Given the description of an element on the screen output the (x, y) to click on. 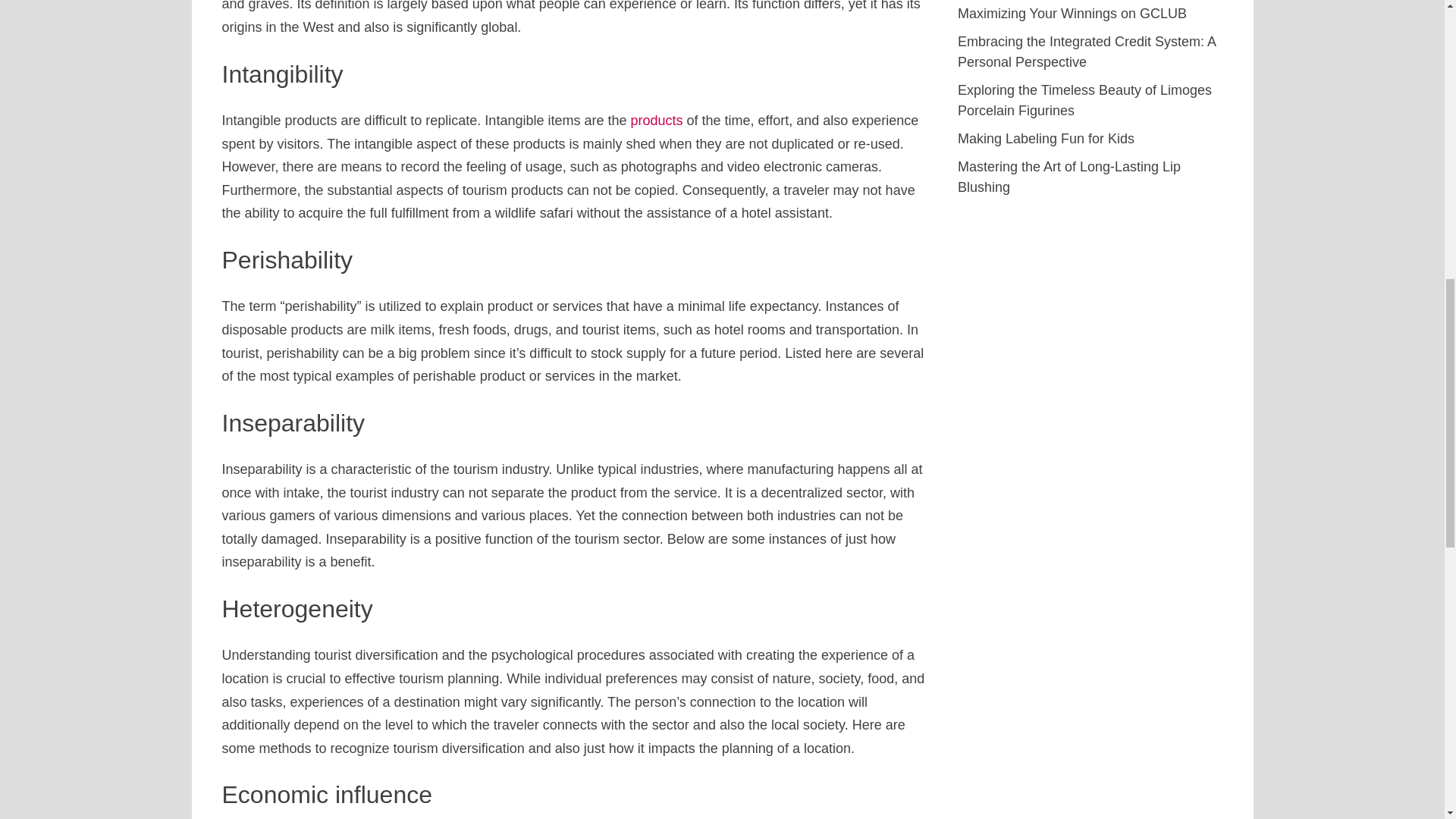
products (656, 120)
